Given the description of an element on the screen output the (x, y) to click on. 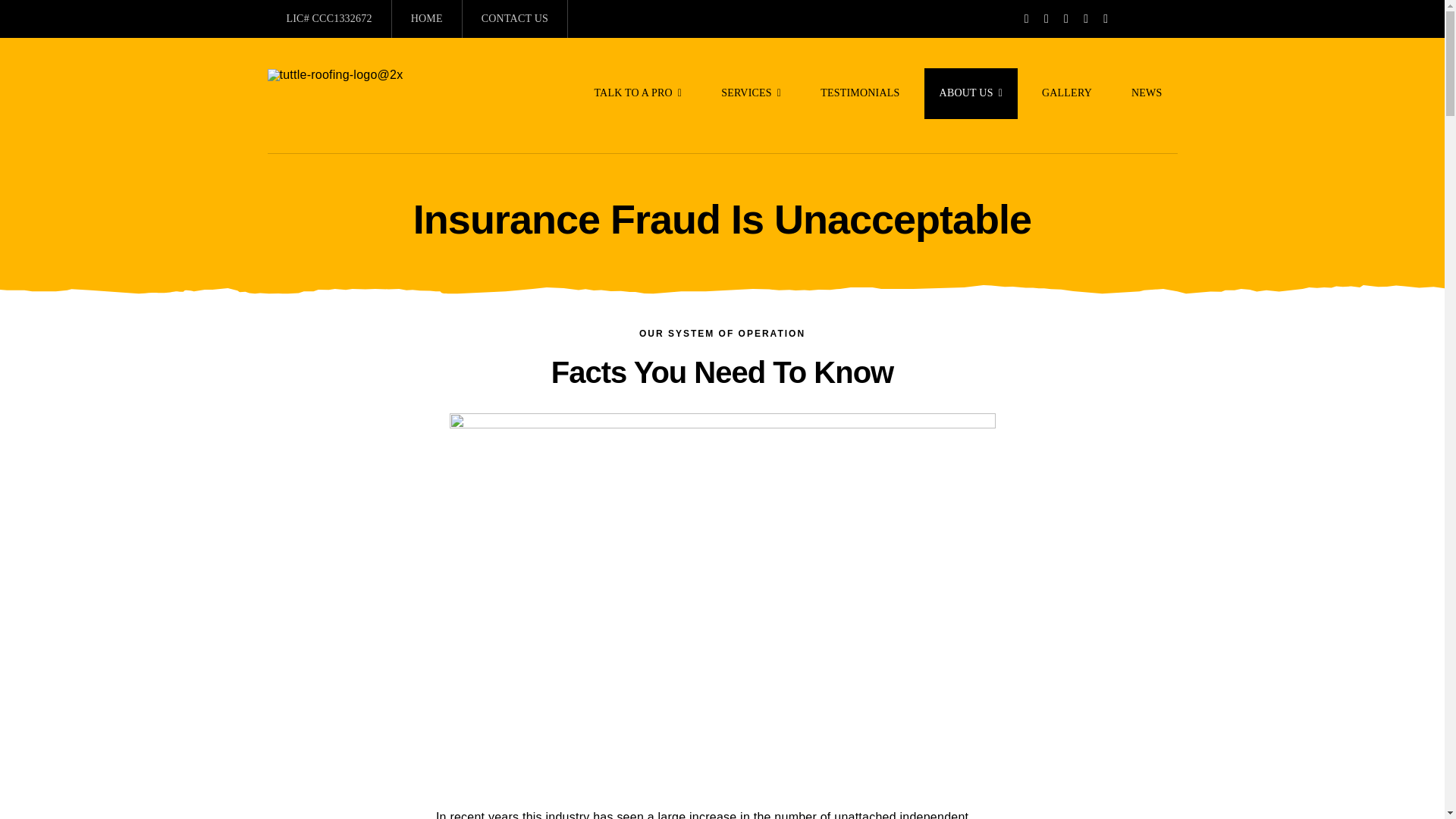
ABOUT US (970, 92)
HOME (427, 18)
GALLERY (1066, 92)
CONTACT US (515, 18)
NEWS (1146, 92)
TALK TO A PRO (637, 92)
TESTIMONIALS (859, 92)
SERVICES (751, 92)
